Given the description of an element on the screen output the (x, y) to click on. 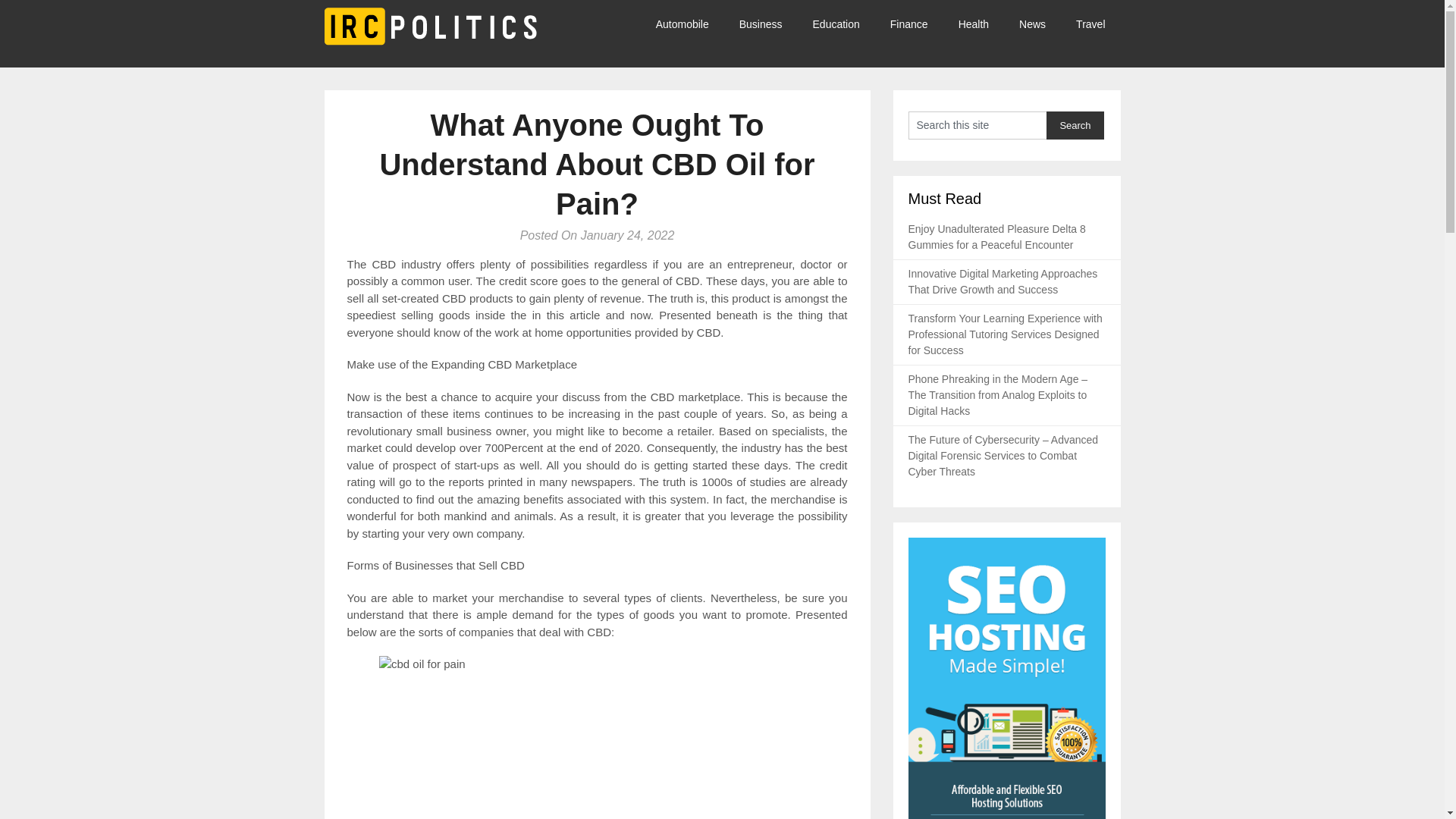
Health (973, 24)
News (1032, 24)
Automobile (689, 24)
Education (836, 24)
Business (760, 24)
Travel (1090, 24)
Search this site (977, 125)
Search (1075, 125)
